Given the description of an element on the screen output the (x, y) to click on. 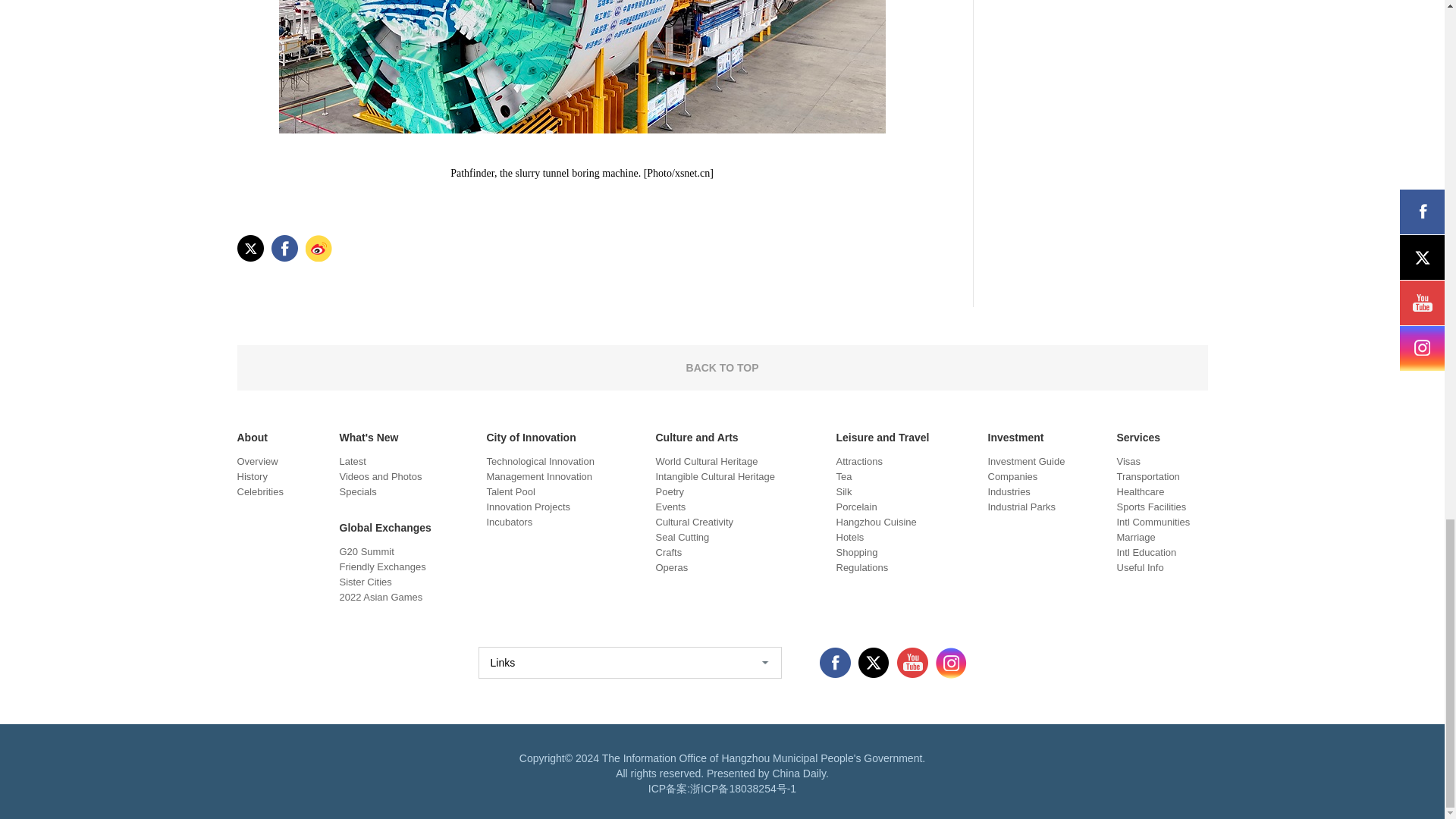
1706693822568012295.jpg (582, 66)
